Given the description of an element on the screen output the (x, y) to click on. 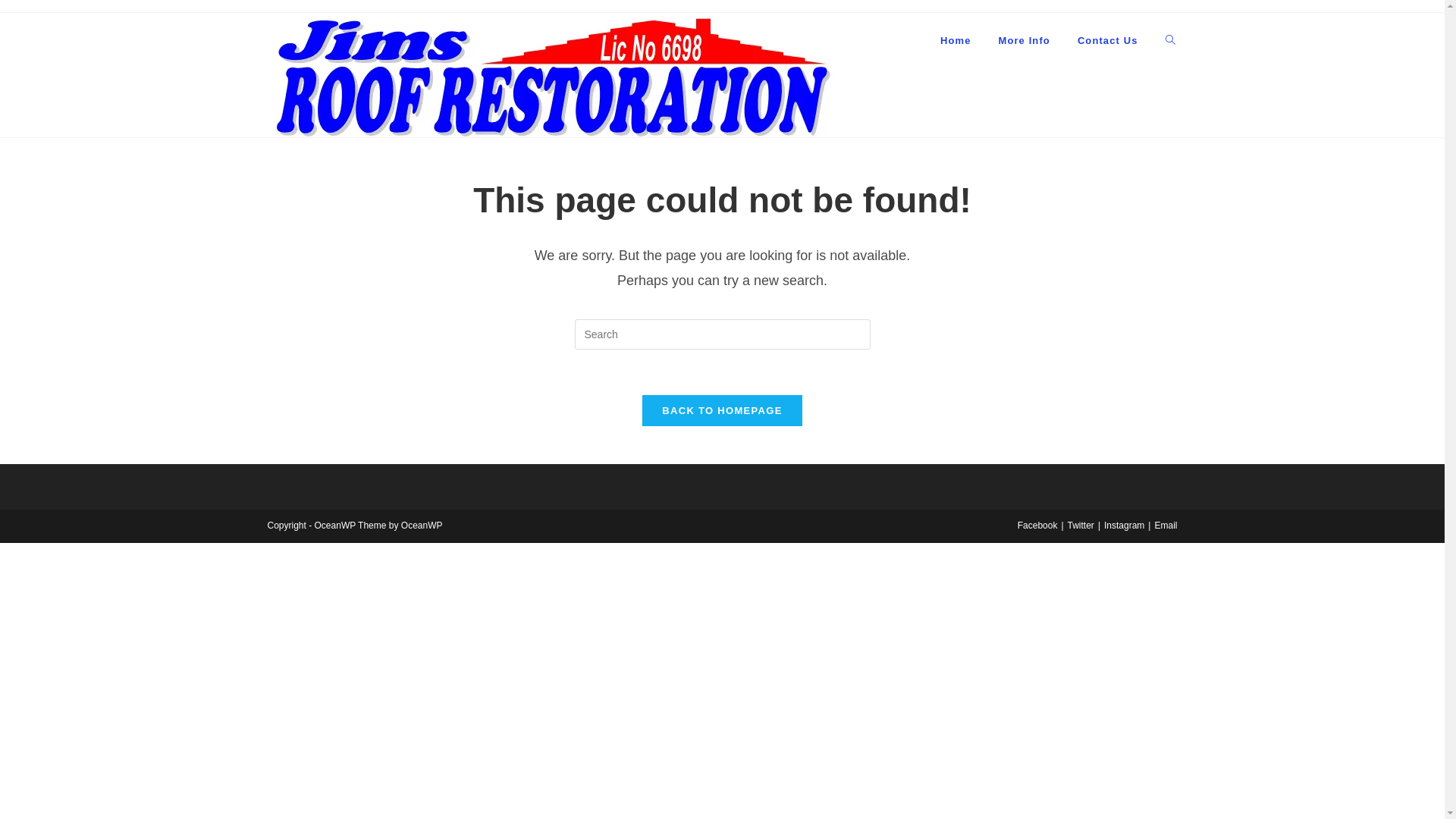
Facebook Element type: text (1037, 525)
Email Element type: text (1165, 525)
BACK TO HOMEPAGE Element type: text (721, 410)
More Info Element type: text (1023, 40)
Instagram Element type: text (1124, 525)
Home Element type: text (955, 40)
Toggle website search Element type: text (1169, 40)
Contact Us Element type: text (1107, 40)
Twitter Element type: text (1080, 525)
